Given the description of an element on the screen output the (x, y) to click on. 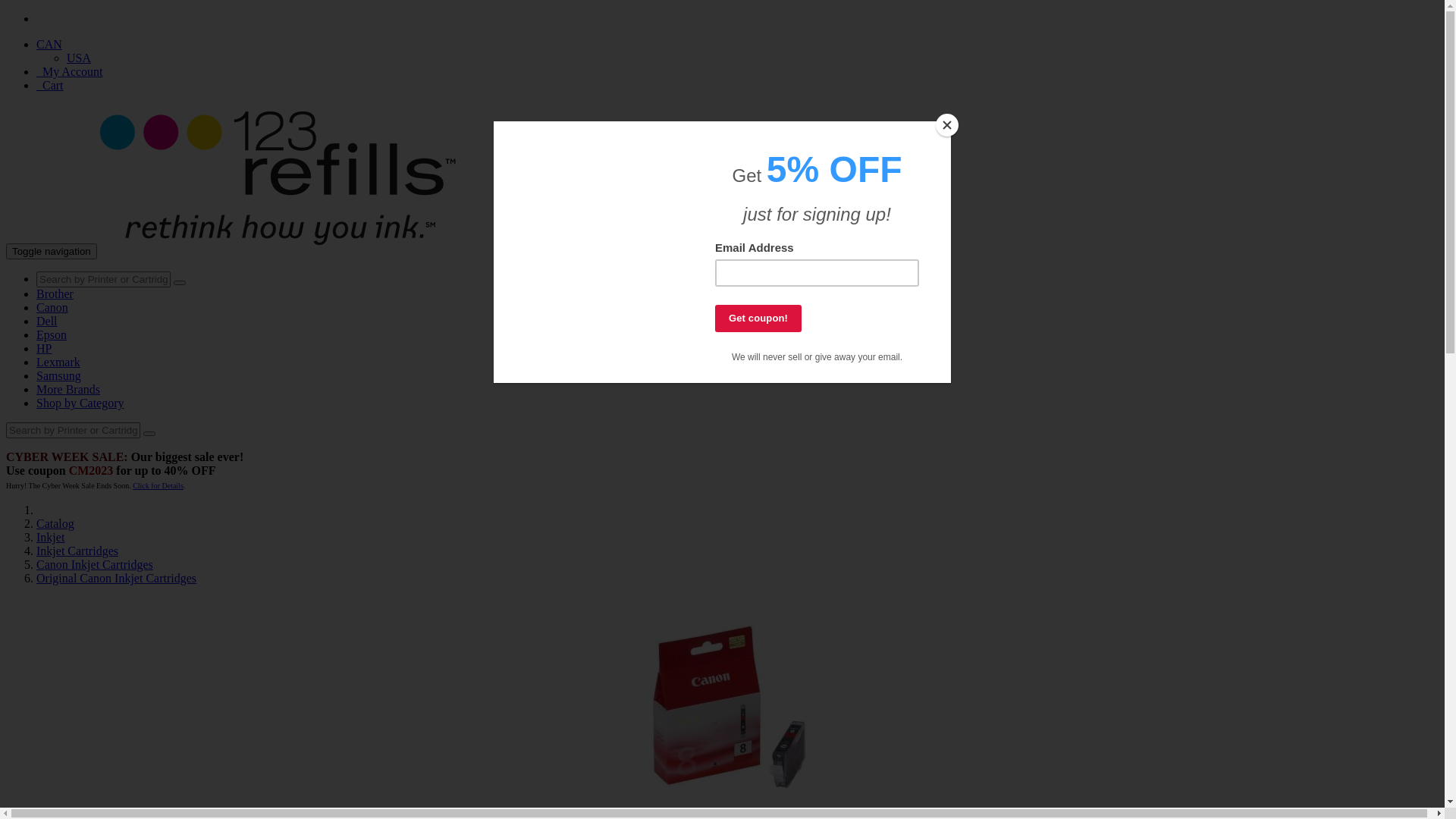
Canon Element type: text (52, 307)
Original Canon Inkjet Cartridges Element type: text (116, 577)
Catalog Element type: text (55, 523)
HP Element type: text (43, 348)
Click for Details Element type: text (157, 485)
Canon Inkjet Cartridges Element type: text (94, 564)
Inkjet Cartridges Element type: text (77, 550)
Inkjet Element type: text (50, 536)
Toggle navigation Element type: text (51, 251)
Dell Element type: text (46, 320)
USA Element type: text (78, 57)
Epson Element type: text (51, 334)
Lexmark Element type: text (58, 361)
Samsung Element type: text (58, 375)
CAN Element type: text (49, 43)
  My Account Element type: text (69, 71)
Brother Element type: text (54, 293)
Shop by Category Element type: text (80, 402)
  Cart Element type: text (49, 84)
866 465 5888 Element type: text (81, 18)
More Brands Element type: text (68, 388)
